Given the description of an element on the screen output the (x, y) to click on. 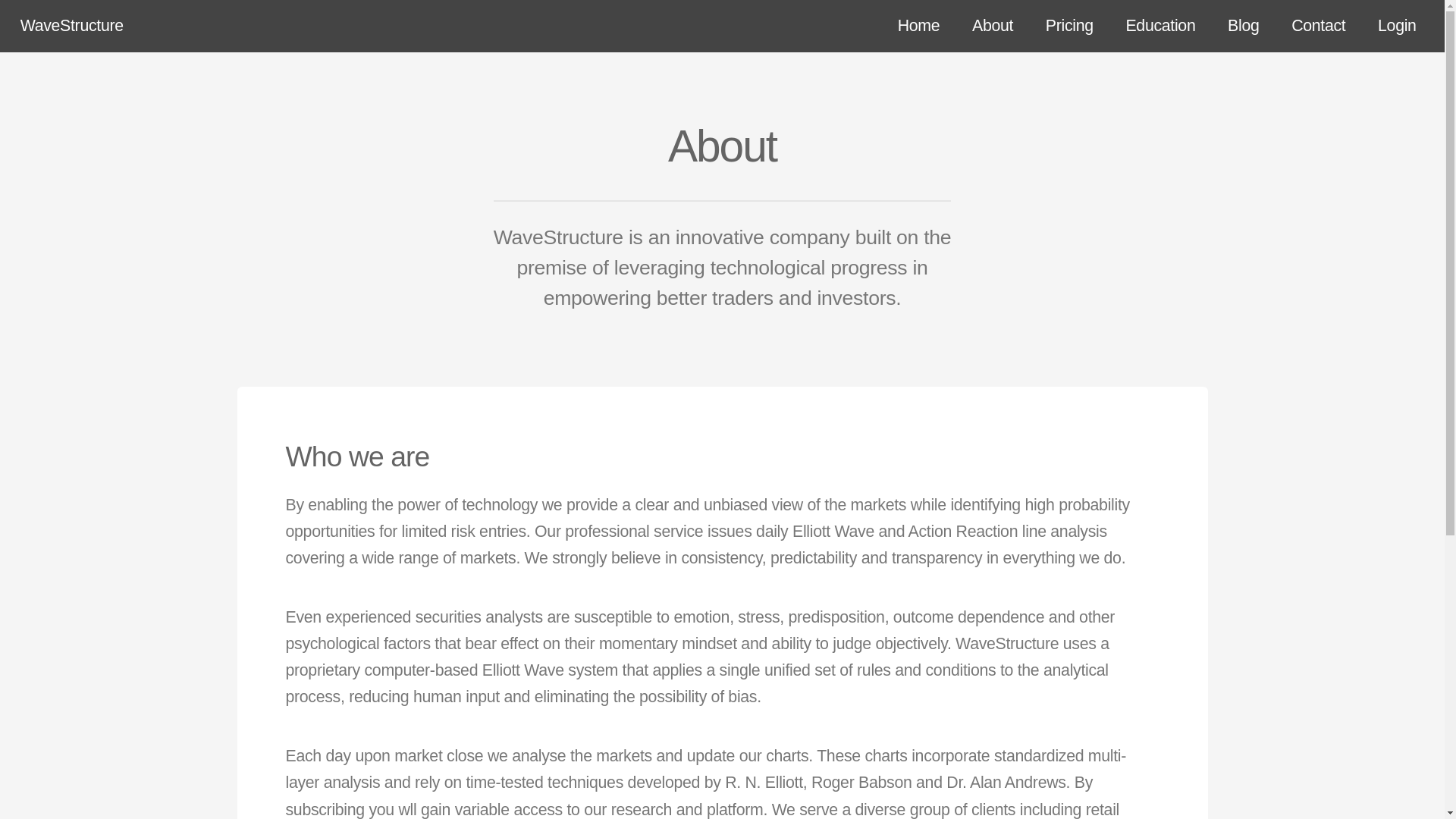
Blog (1243, 26)
Pricing (1069, 26)
Education (1160, 26)
WaveStructure (71, 25)
Login (1396, 26)
Contact (1318, 26)
About (992, 26)
Home (917, 26)
